Given the description of an element on the screen output the (x, y) to click on. 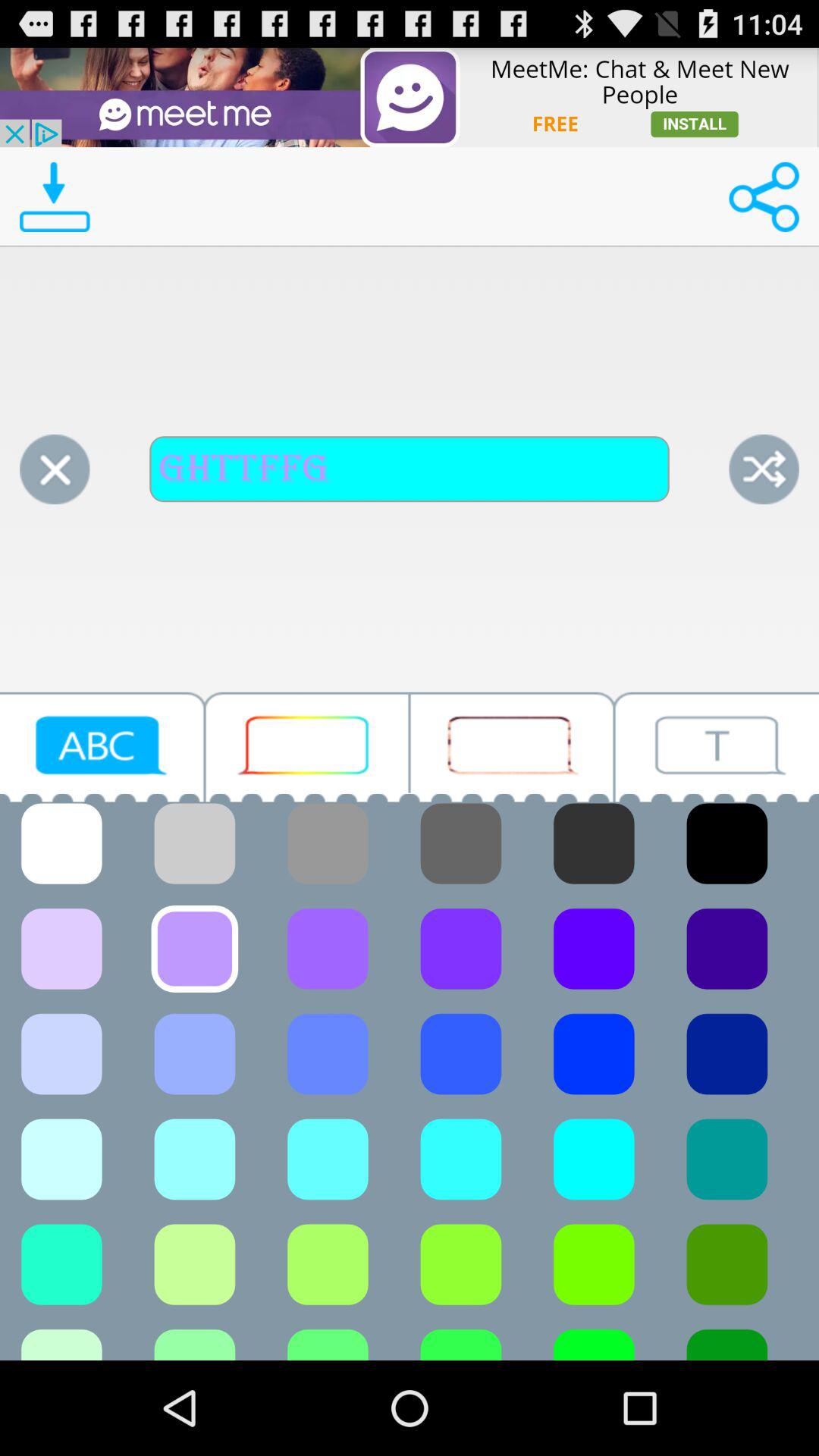
text icon (716, 746)
